Given the description of an element on the screen output the (x, y) to click on. 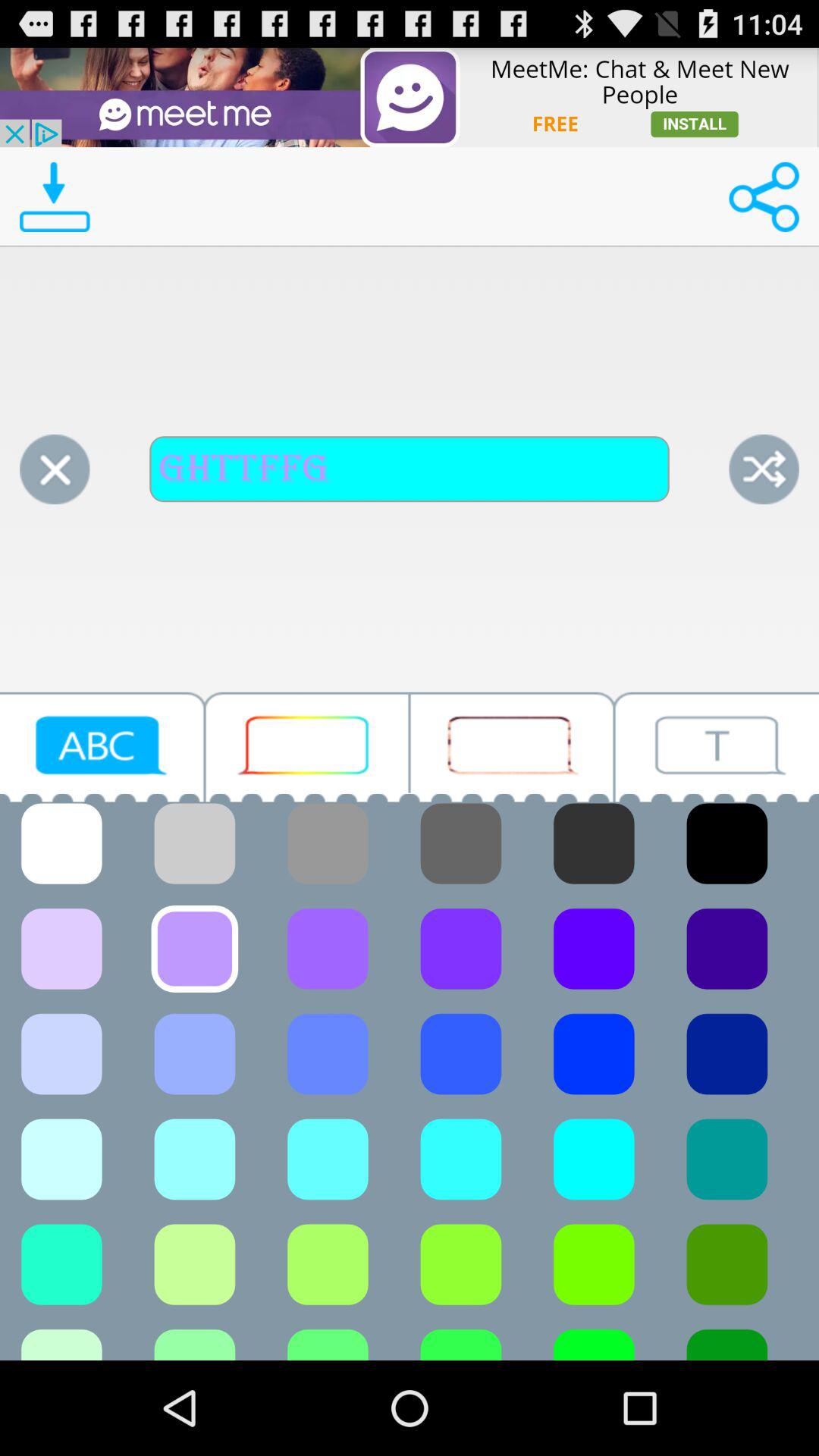
text icon (716, 746)
